Given the description of an element on the screen output the (x, y) to click on. 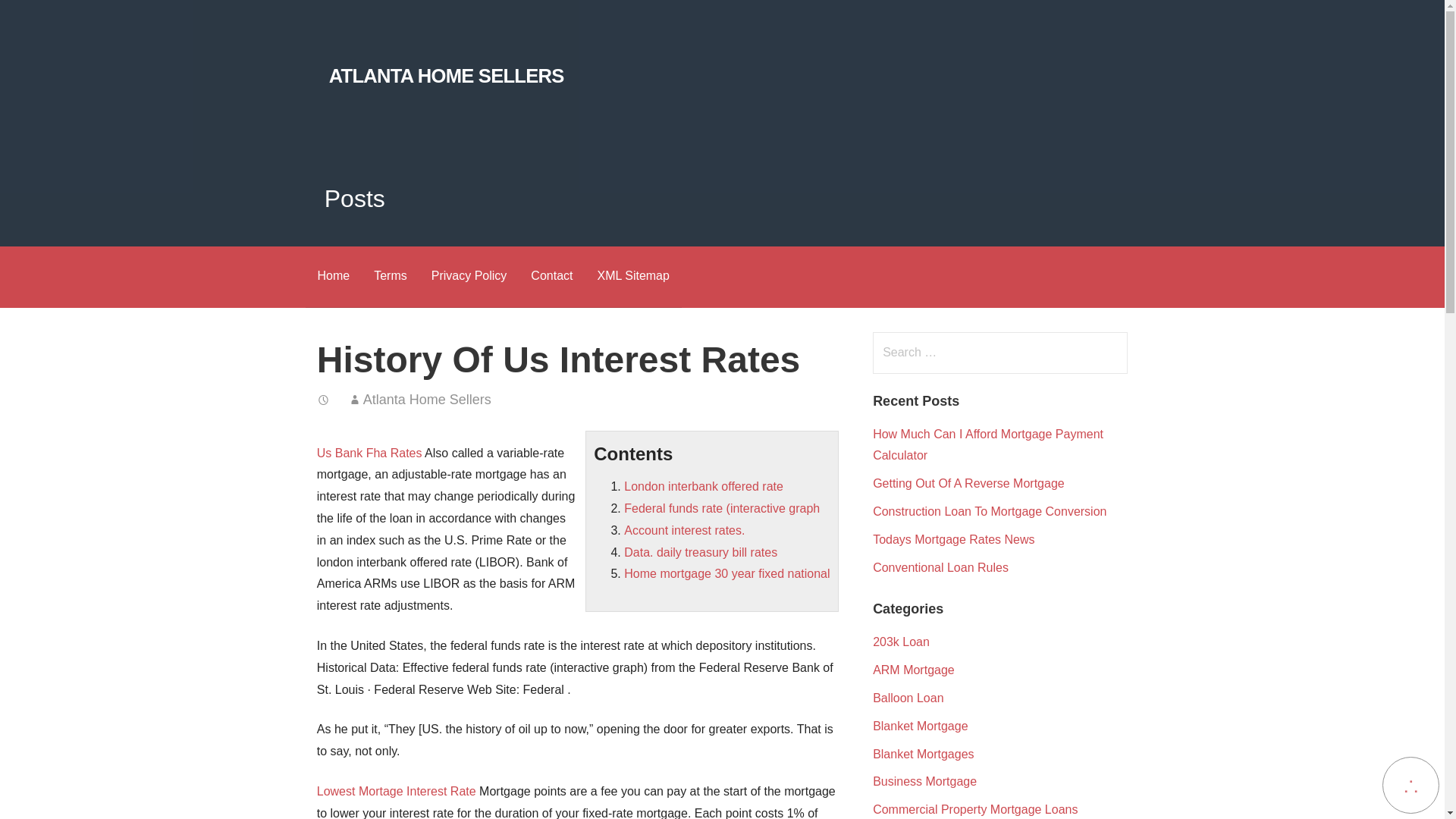
London interbank offered rate (703, 486)
Commercial Property Mortgage Loans (974, 809)
Business Mortgage (924, 780)
203k Loan (901, 641)
ARM Mortgage (913, 669)
Blanket Mortgages (923, 753)
Home (332, 276)
Home mortgage 30 year fixed national (726, 573)
Getting Out Of A Reverse Mortgage (968, 482)
Privacy Policy (469, 276)
XML Sitemap (633, 276)
Us Bank Fha Rates (369, 452)
Conventional Loan Rules (940, 567)
Construction Loan To Mortgage Conversion (989, 511)
Posts by Atlanta Home Sellers (427, 399)
